Given the description of an element on the screen output the (x, y) to click on. 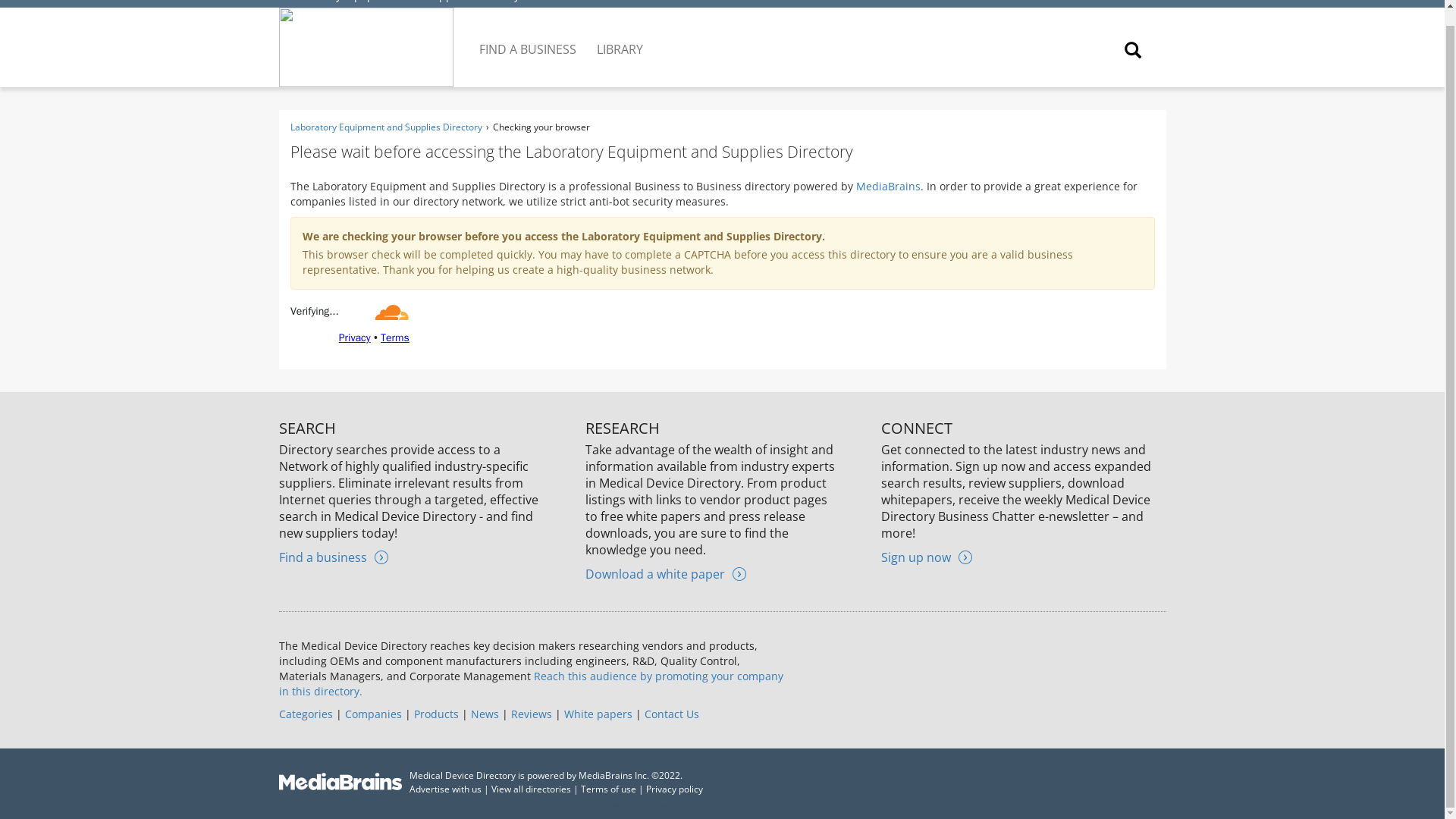
Terms of use (608, 788)
Privacy policy (674, 788)
Categories (306, 713)
Sign up now (926, 556)
Companies (372, 713)
Download a white paper (665, 573)
Laboratory Equipment and Supplies Directory (403, 1)
Find a business (333, 556)
LIBRARY (620, 37)
Laboratory Equipment and Supplies Directory (385, 126)
FIND A BUSINESS (528, 37)
Contact Us (671, 713)
News (483, 713)
Advertise with us (445, 788)
